Given the description of an element on the screen output the (x, y) to click on. 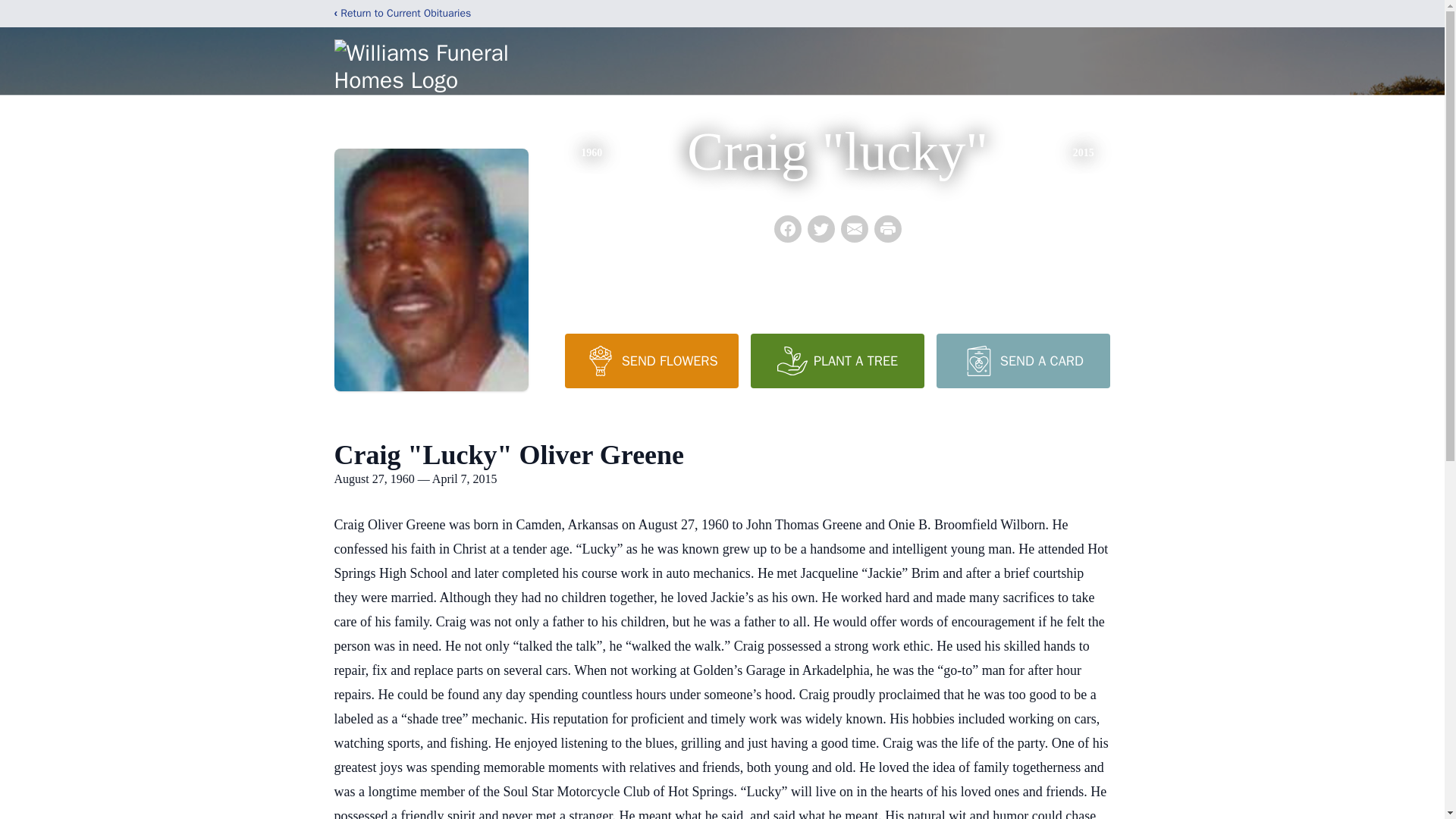
SEND A CARD (1022, 360)
SEND FLOWERS (651, 360)
PLANT A TREE (837, 360)
